Given the description of an element on the screen output the (x, y) to click on. 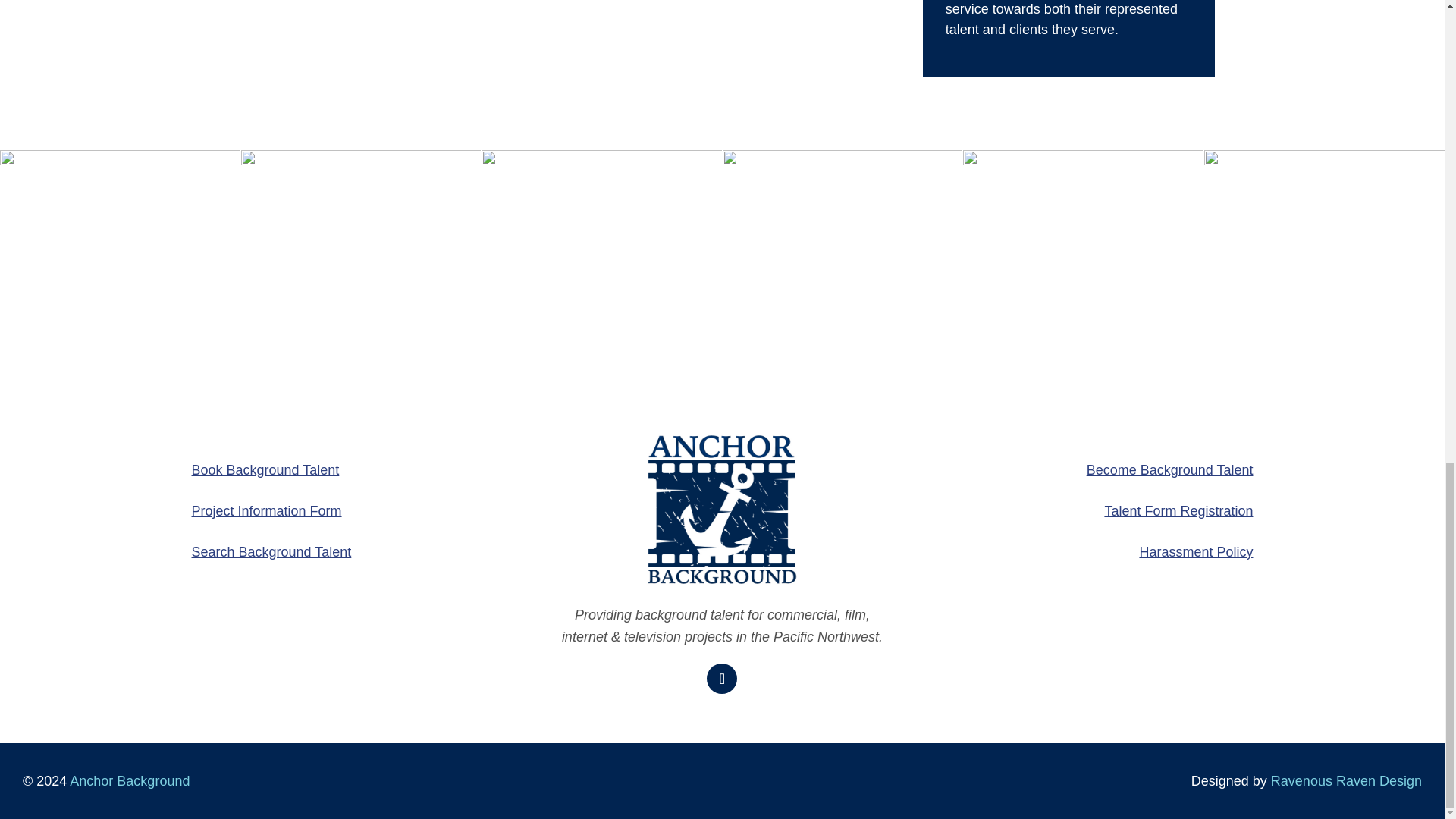
Book Background Talent (264, 469)
Search Background Talent (270, 551)
anchorbackgroundlogojpg (721, 509)
Become Background Talent (1169, 469)
background-talent-movie-extras (361, 269)
extras-background (120, 269)
Search Background Talent (270, 551)
Harassment Policy (1195, 551)
movie-extras-2 (1083, 269)
Talent Form Registration (1177, 510)
Project Information Form (265, 510)
movie-extras (842, 269)
Anchor Background (127, 780)
Ravenous Raven Design (1346, 780)
Book Background Talent (264, 469)
